Given the description of an element on the screen output the (x, y) to click on. 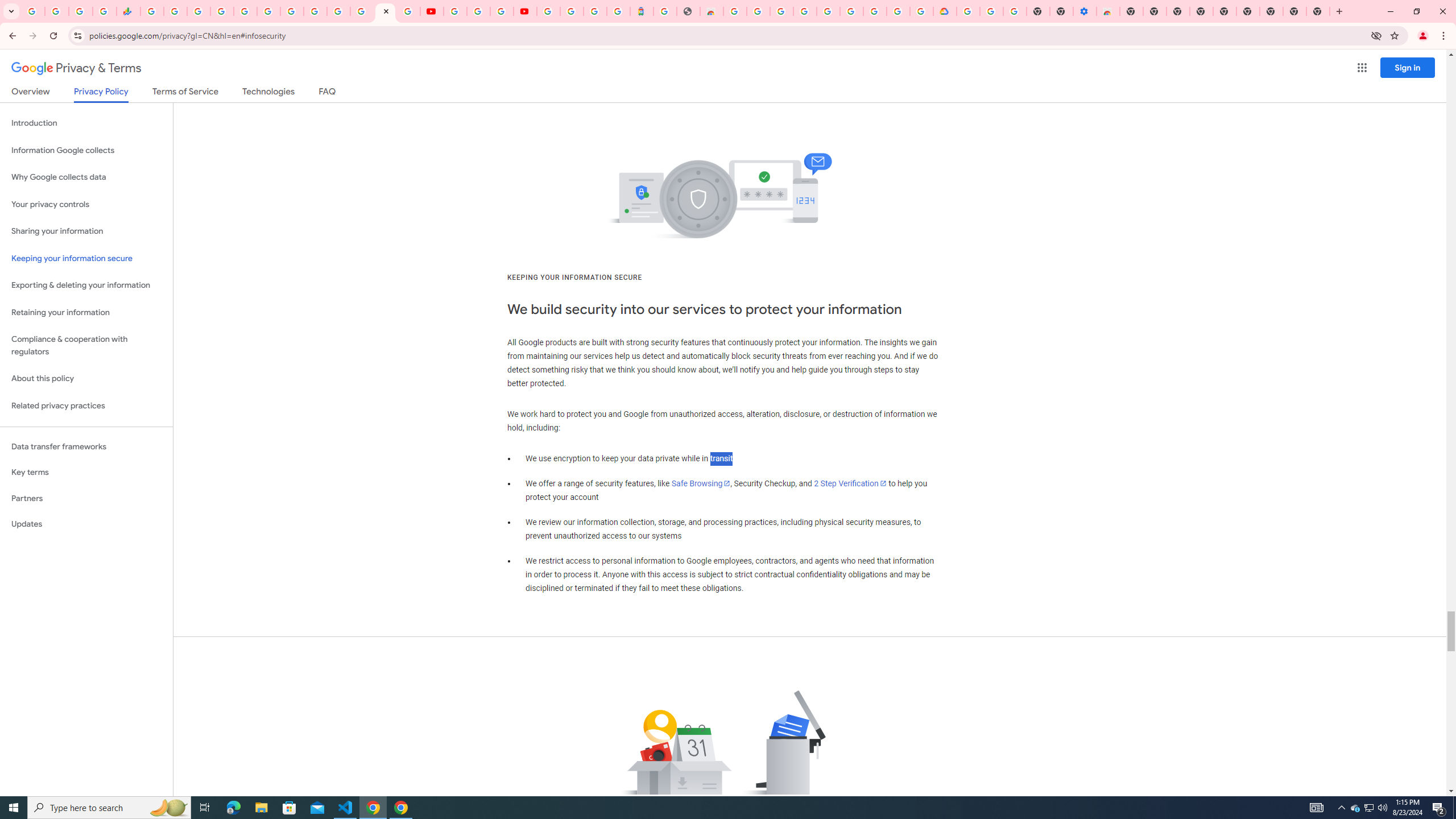
Sign in - Google Accounts (547, 11)
Settings - Accessibility (1085, 11)
Google Account Help (850, 11)
Introduction (86, 122)
Sign in - Google Accounts (338, 11)
Google Account Help (992, 11)
Create your Google Account (757, 11)
Technologies (268, 93)
Create your Google Account (897, 11)
